Given the description of an element on the screen output the (x, y) to click on. 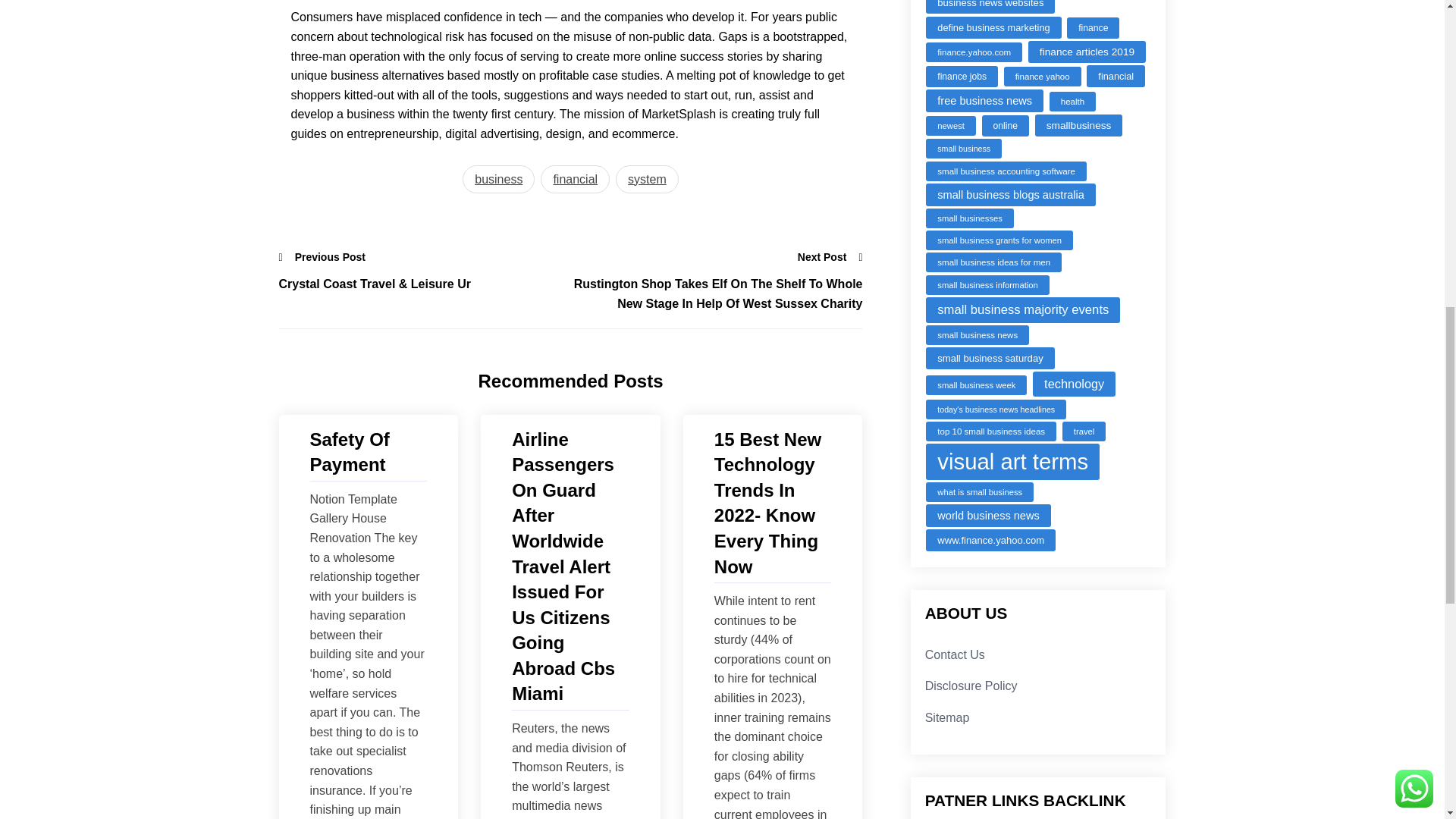
Previous Post (322, 256)
Next Post (830, 256)
Safety Of Payment (367, 451)
financial (575, 179)
15 Best New Technology Trends In 2022- Know Every Thing Now (772, 502)
business (498, 179)
system (646, 179)
